Given the description of an element on the screen output the (x, y) to click on. 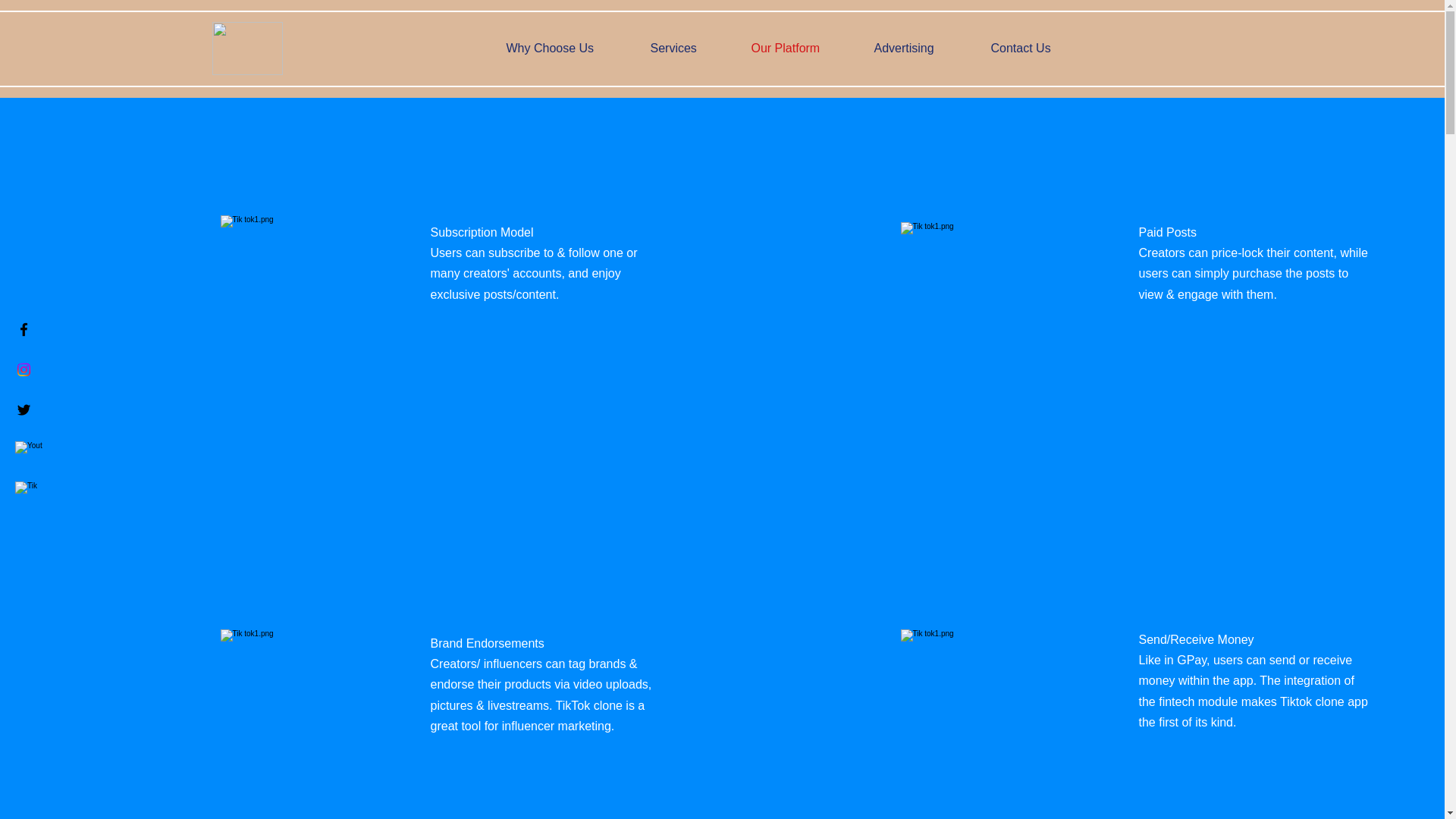
Why Choose Us (567, 48)
Contact Us (1036, 48)
bigindylogo.jpg (247, 48)
Advertising (921, 48)
Our Platform (801, 48)
Services (689, 48)
